Given the description of an element on the screen output the (x, y) to click on. 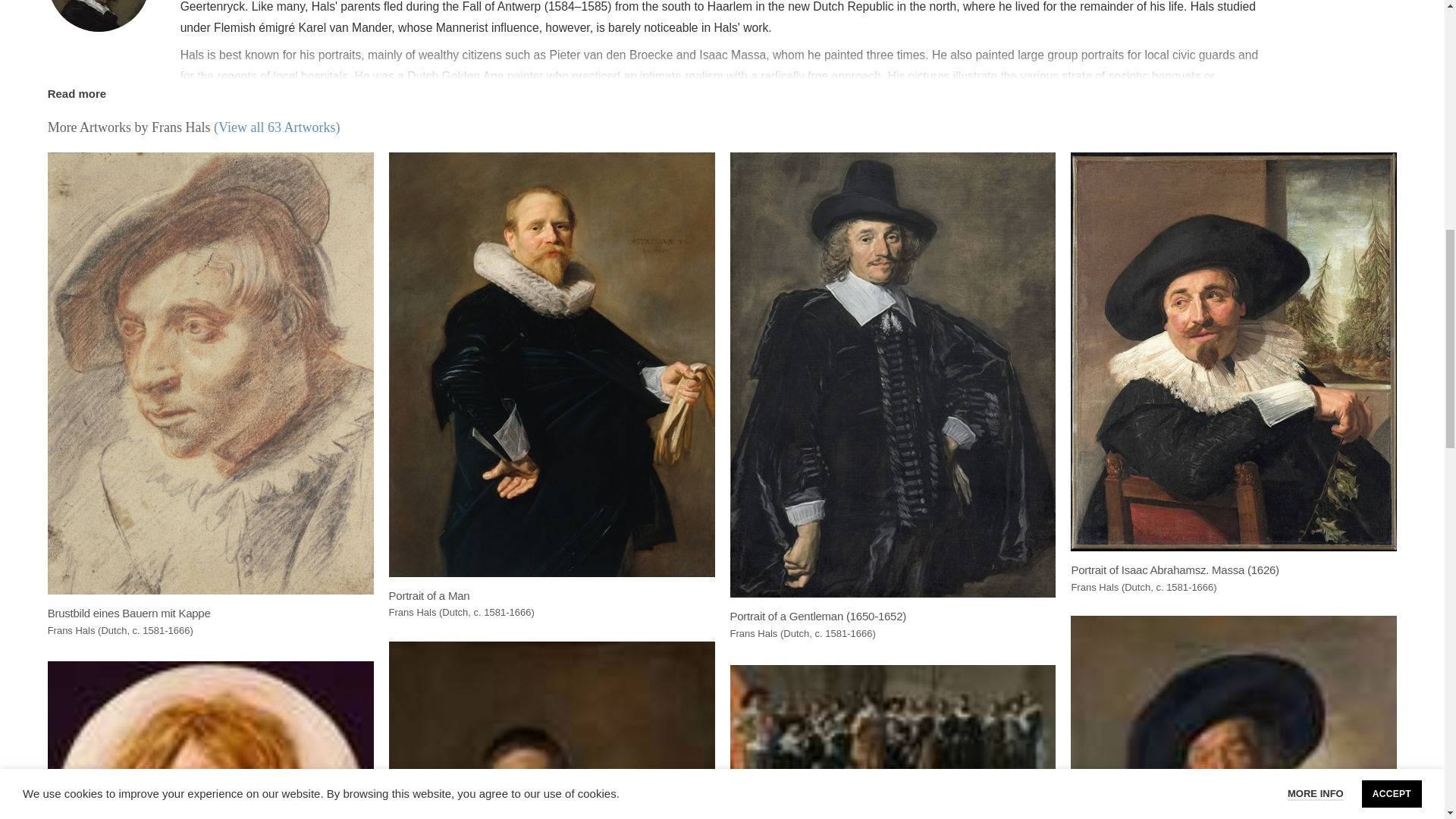
Frans Hals (98, 15)
